Given the description of an element on the screen output the (x, y) to click on. 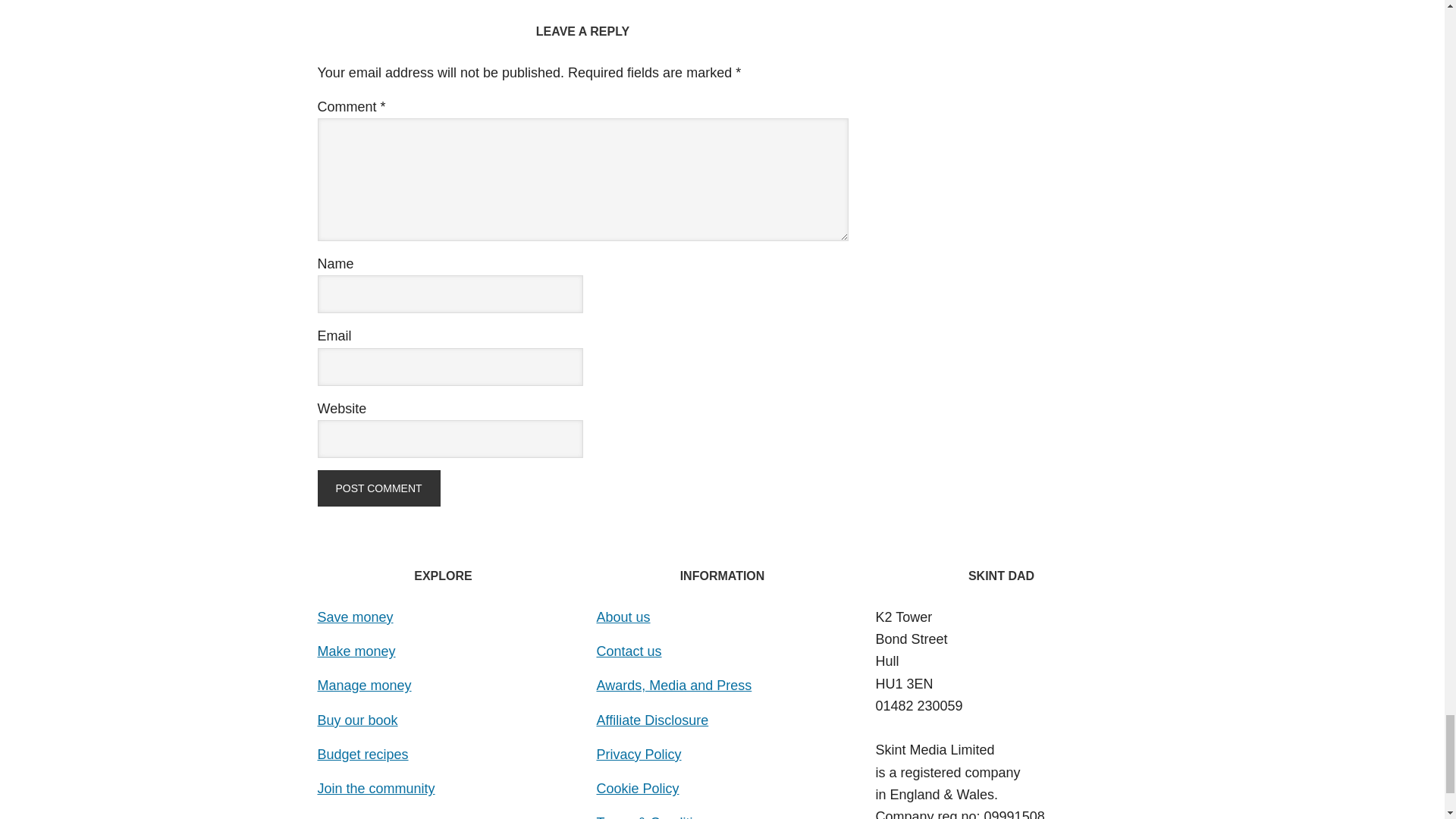
Post Comment (378, 488)
